Given the description of an element on the screen output the (x, y) to click on. 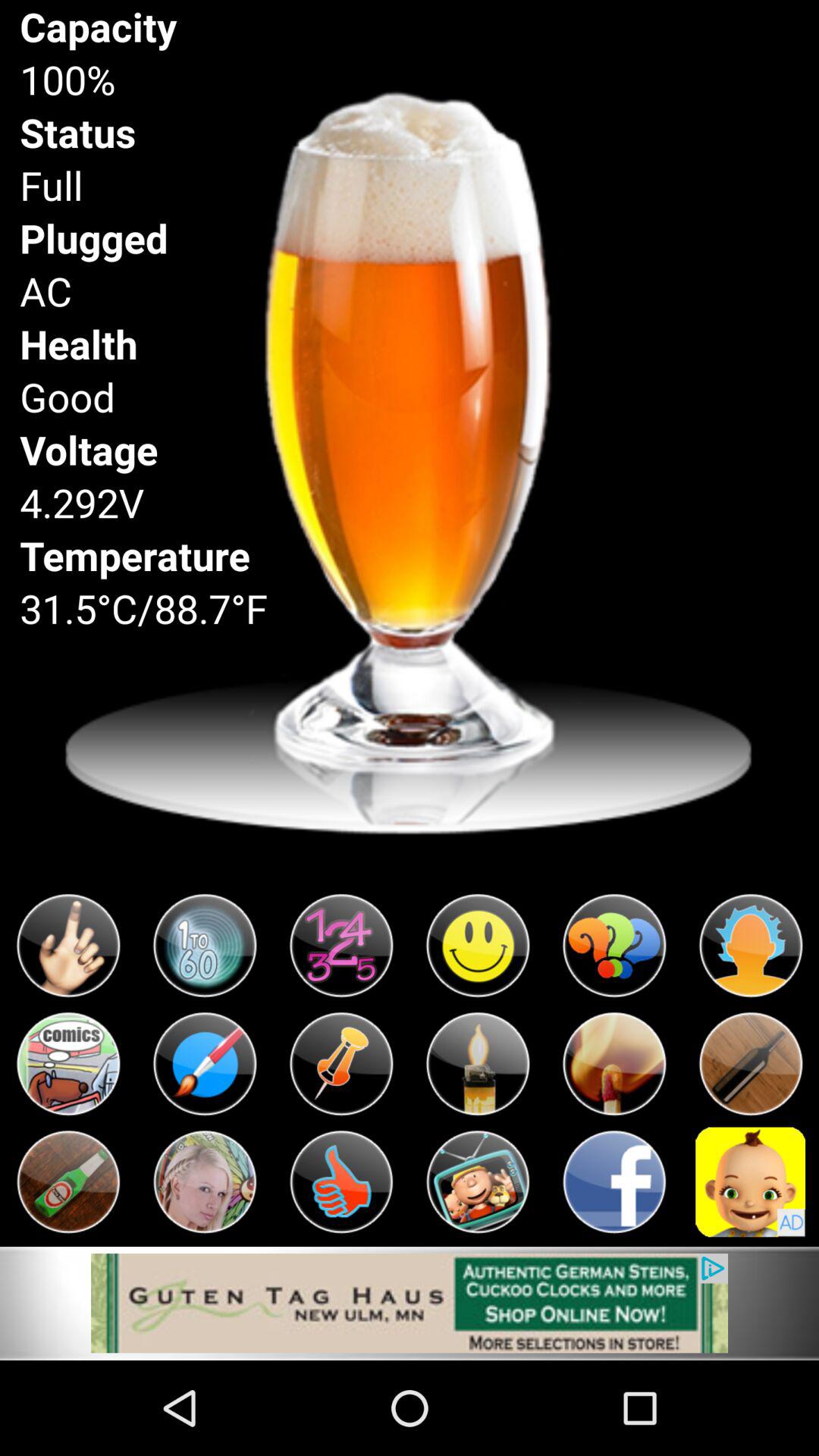
select emoji (68, 945)
